Given the description of an element on the screen output the (x, y) to click on. 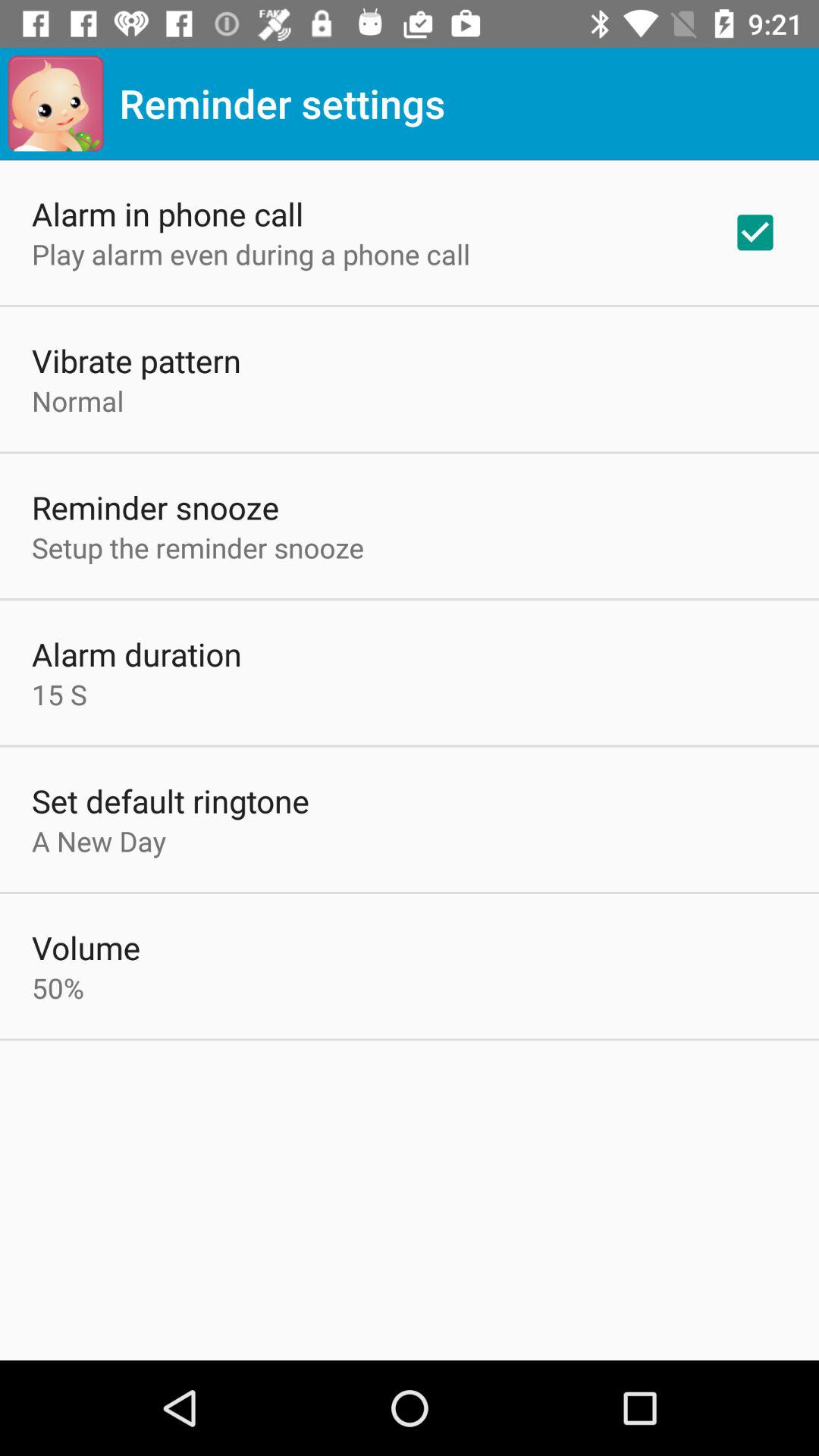
tap the item next to play alarm even (755, 232)
